Given the description of an element on the screen output the (x, y) to click on. 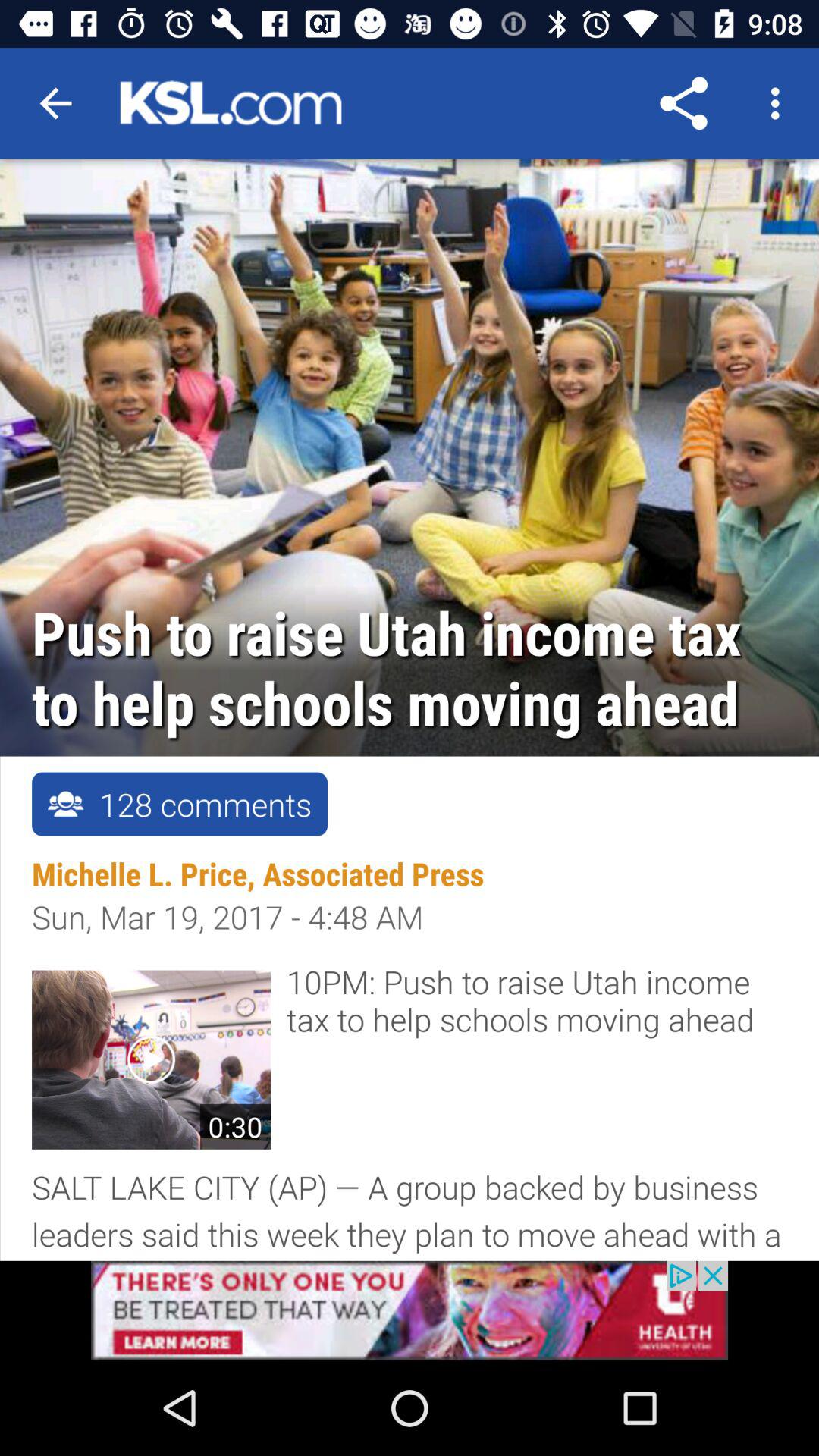
advertisement (409, 1310)
